Given the description of an element on the screen output the (x, y) to click on. 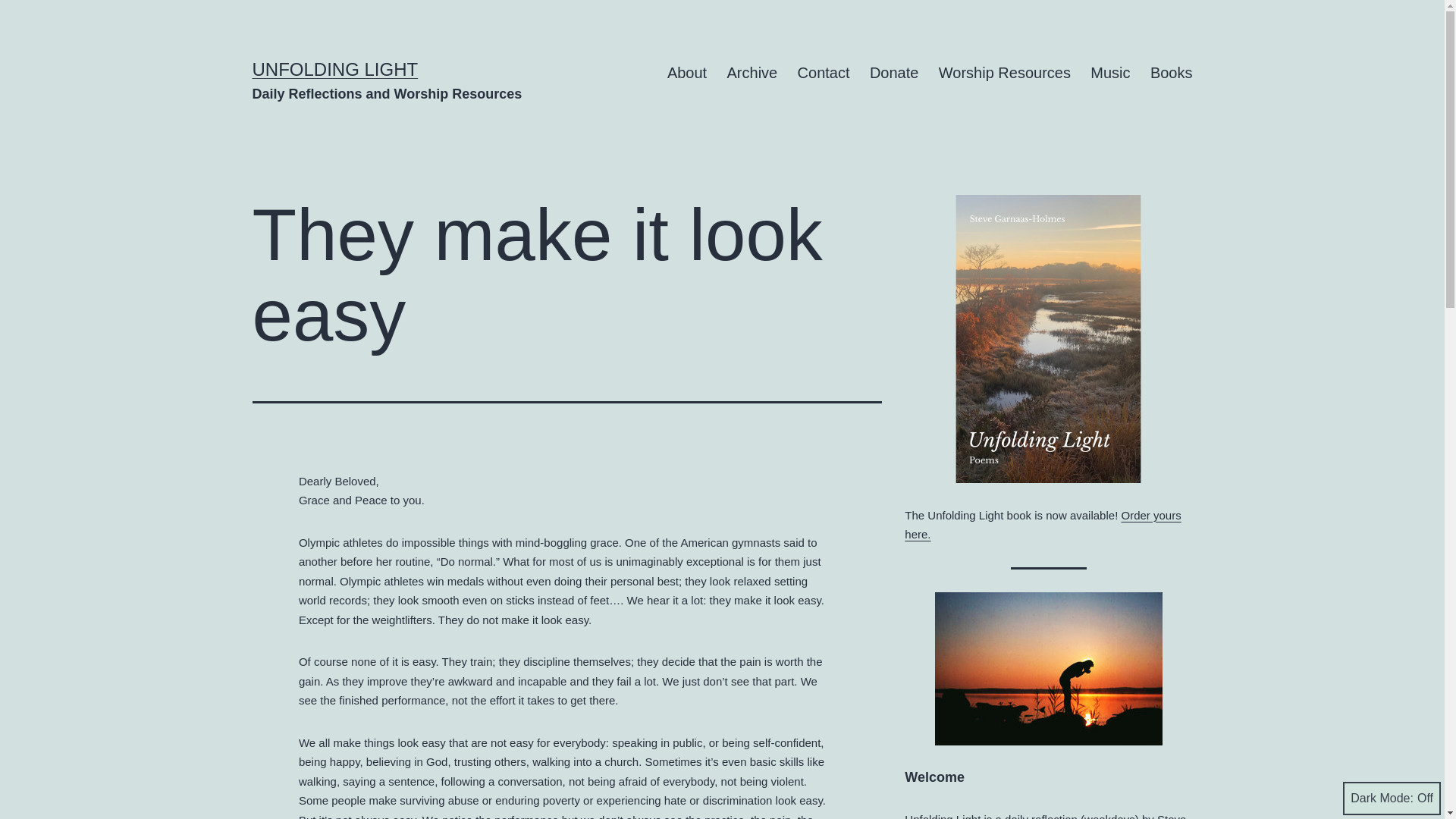
Dark Mode: (1391, 798)
UNFOLDING LIGHT (334, 68)
Worship Resources (1004, 72)
Books (1171, 72)
About (687, 72)
Order yours here. (1042, 524)
Music (1110, 72)
Donate (894, 72)
Archive (751, 72)
Contact (823, 72)
